Given the description of an element on the screen output the (x, y) to click on. 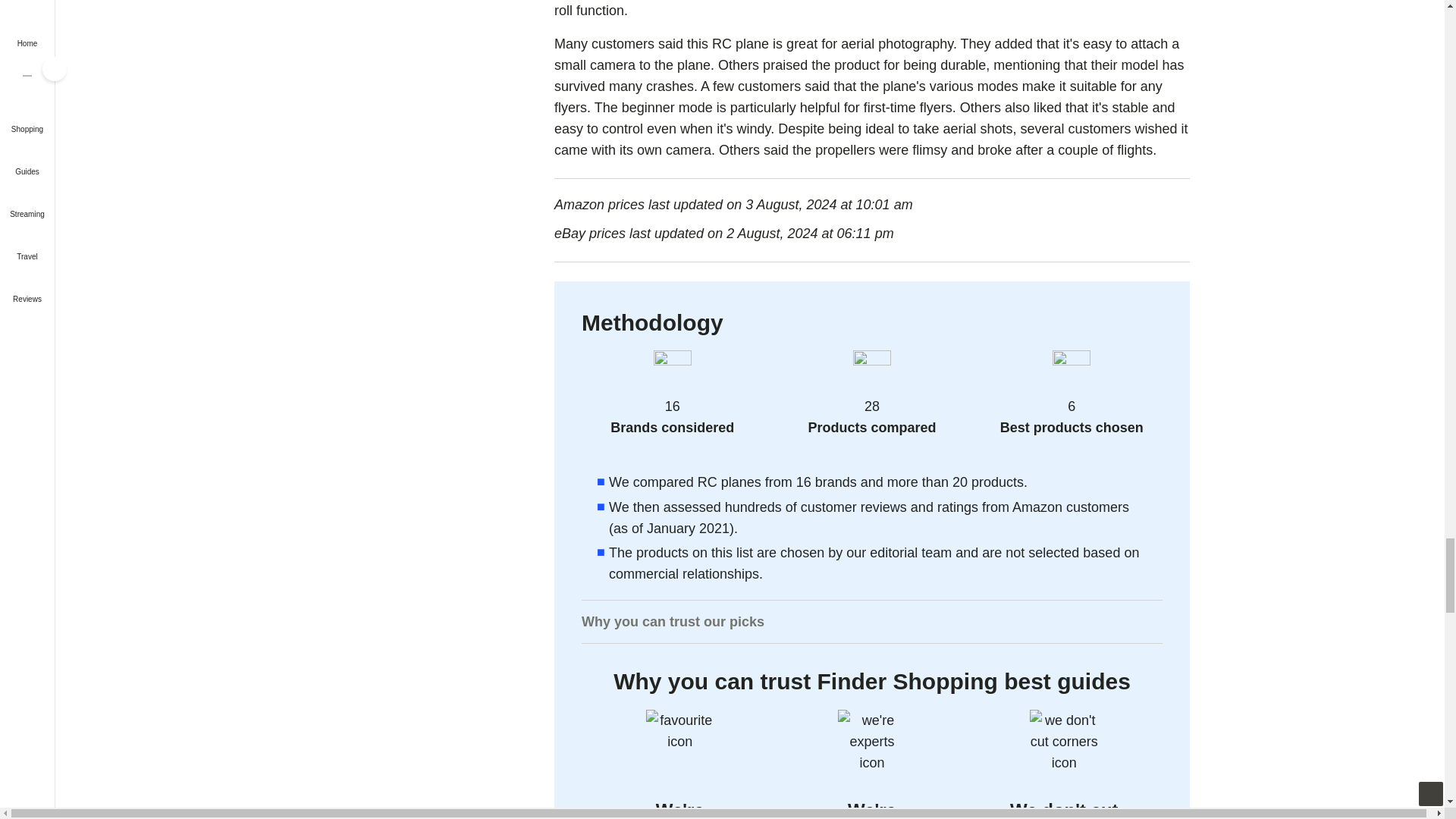
Image: Finder (1063, 744)
Image: Finder (680, 744)
Image: Finder (871, 744)
